Given the description of an element on the screen output the (x, y) to click on. 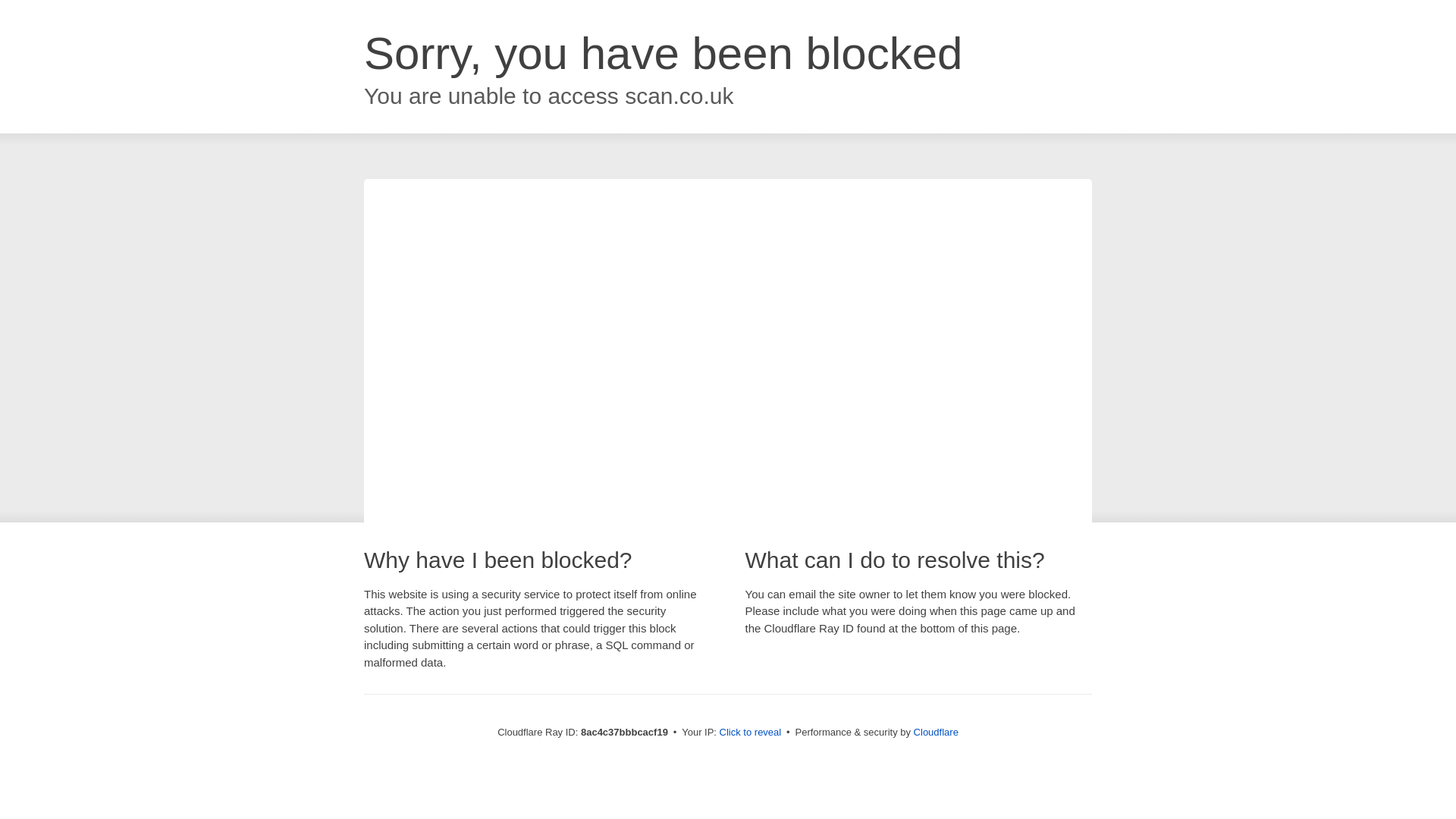
Click to reveal (750, 732)
Cloudflare (936, 731)
